Given the description of an element on the screen output the (x, y) to click on. 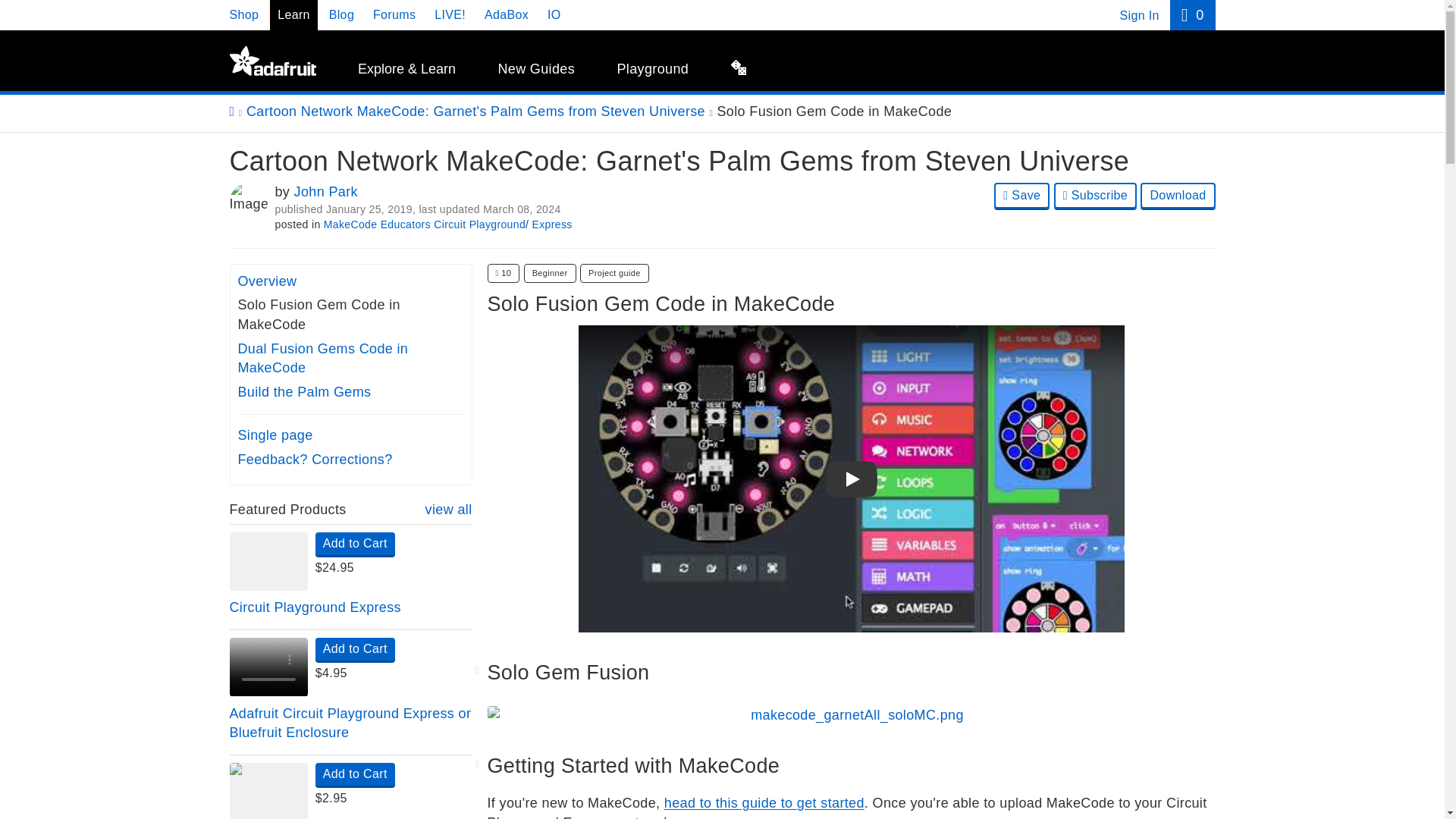
LIVE! (449, 14)
0 (1192, 14)
Blog (341, 14)
Guide Type (614, 272)
Skill Level (550, 272)
Feedback? Corrections? (315, 459)
Adafruit Learning System (271, 60)
Saves (502, 272)
AdaBox (506, 14)
IO (553, 14)
